Given the description of an element on the screen output the (x, y) to click on. 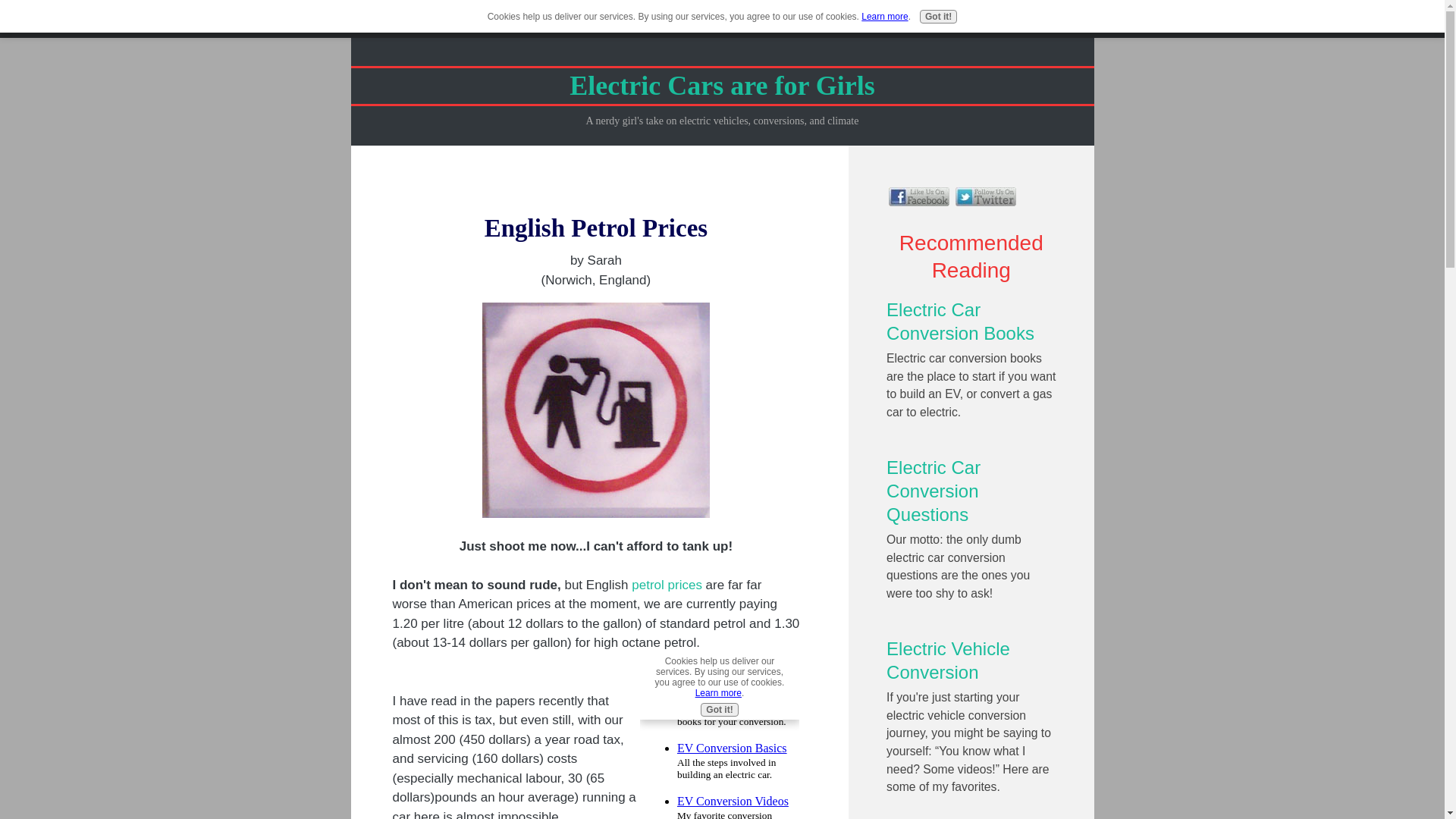
Just shoot me now...I can't afford to tank up! (595, 409)
Electric Cars are for Girls (722, 85)
petrol prices (666, 585)
